Given the description of an element on the screen output the (x, y) to click on. 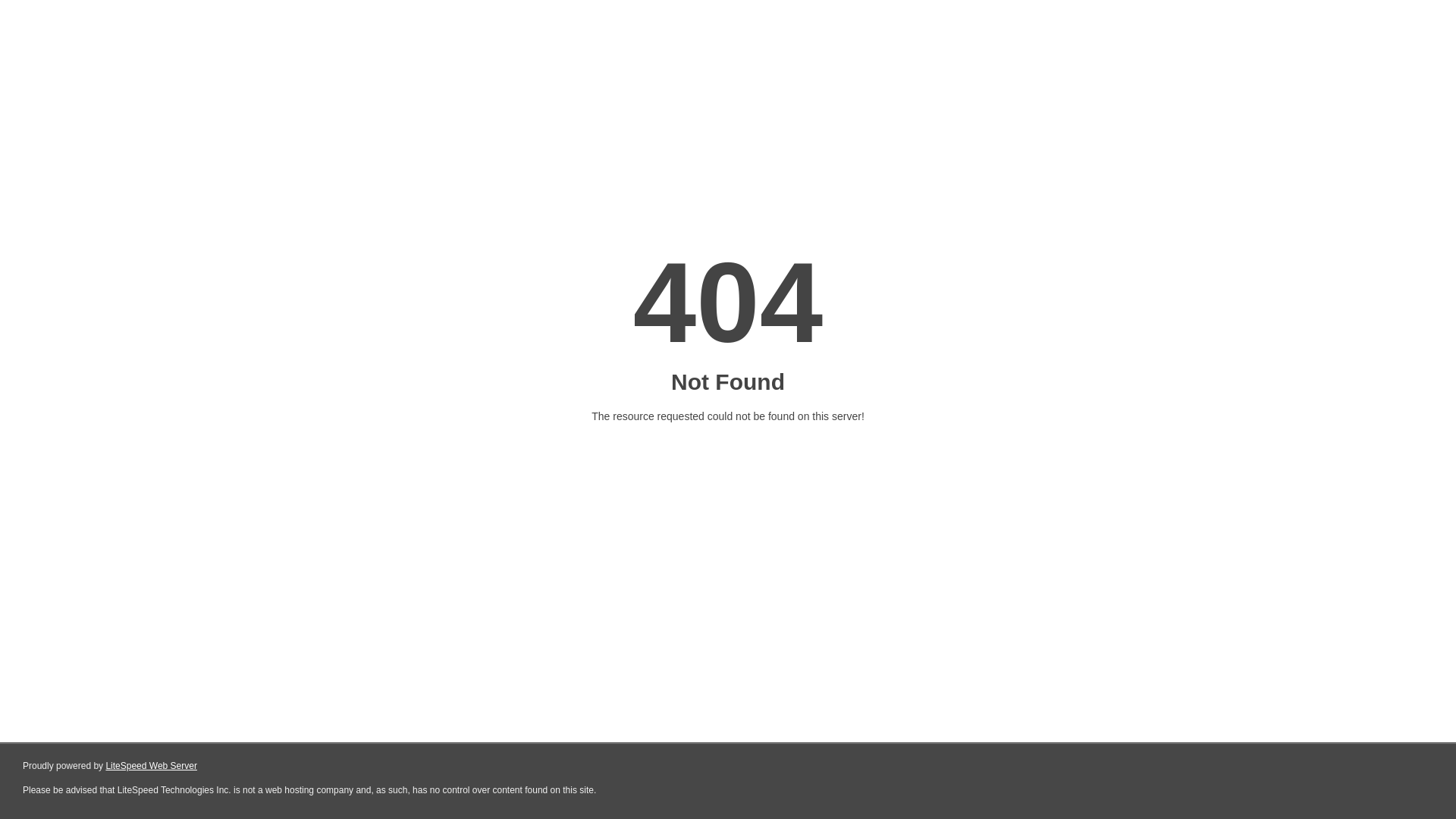
LiteSpeed Web Server Element type: text (151, 765)
